Given the description of an element on the screen output the (x, y) to click on. 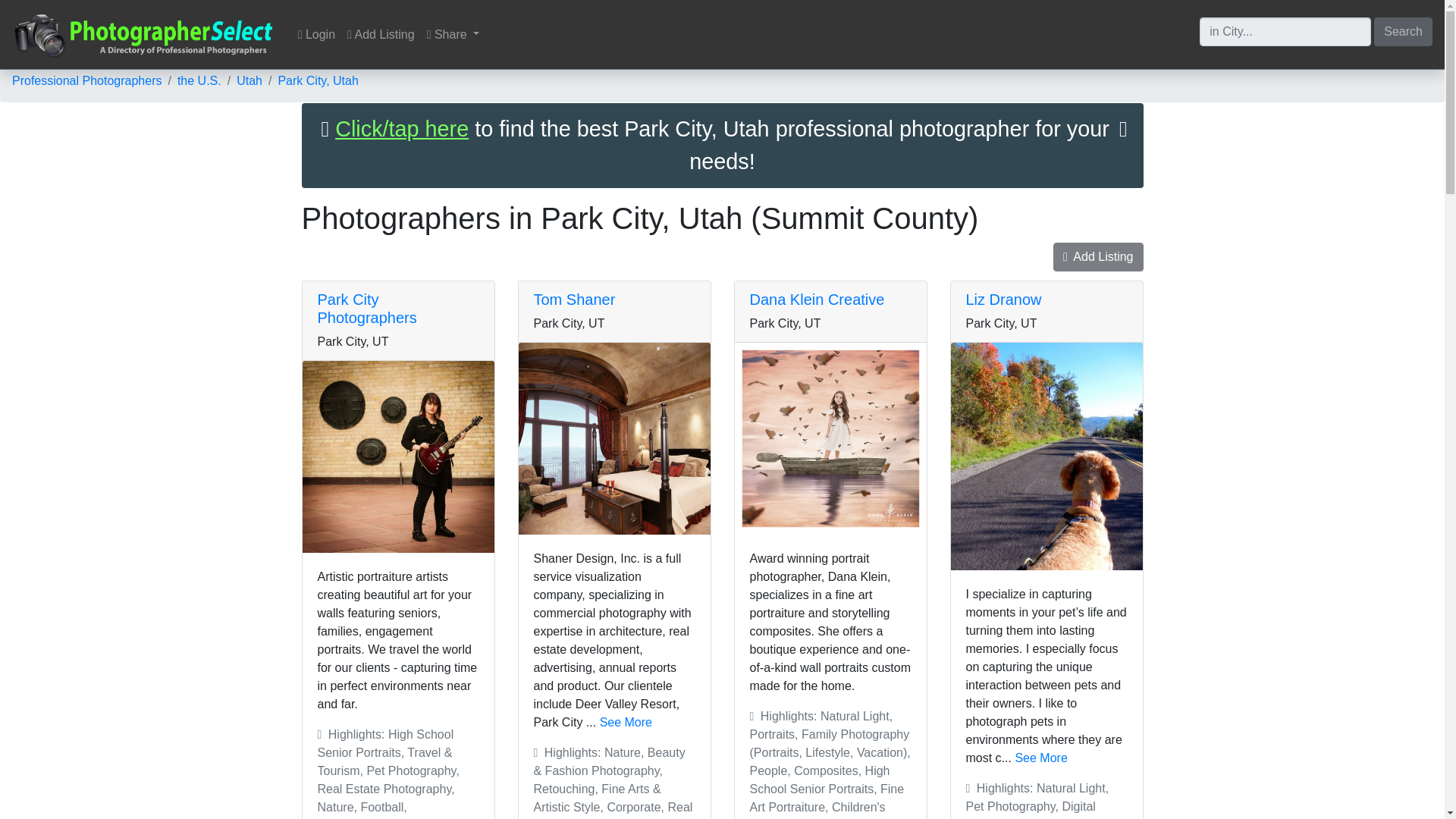
Share (453, 34)
See More (1040, 757)
Add Listing (1097, 256)
Login (316, 34)
Dana Klein Creative (816, 299)
See More (625, 721)
Park City, Utah (318, 80)
Search (1403, 30)
Park City Photographers (366, 308)
Professional Photographers (86, 80)
